Given the description of an element on the screen output the (x, y) to click on. 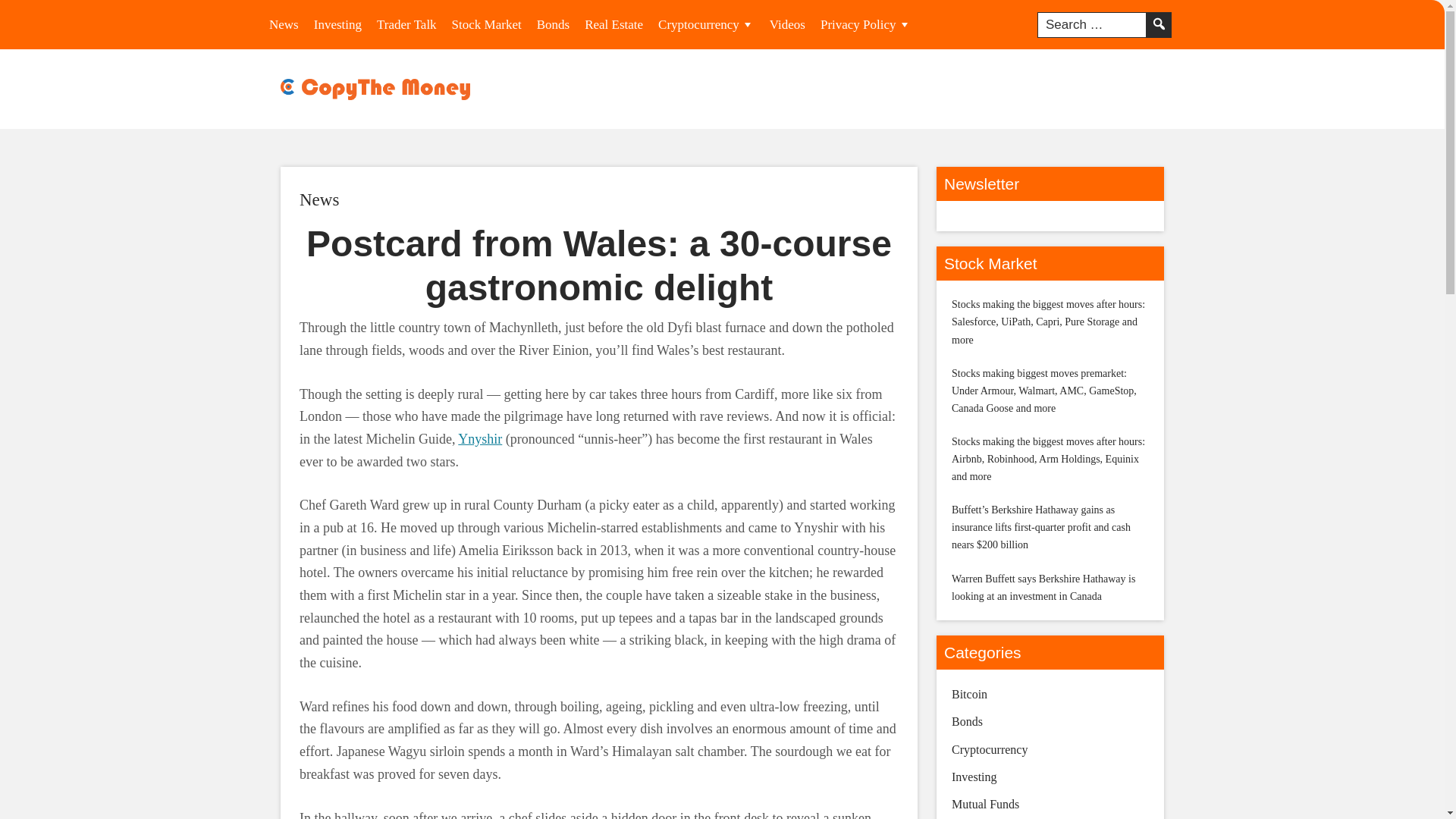
Stock Market (486, 24)
Privacy Policy (865, 24)
Trader Talk (406, 24)
Bonds (552, 24)
News (283, 24)
Investing (337, 24)
News (319, 199)
Videos (786, 24)
News (319, 199)
Real Estate (613, 24)
Cryptocurrency (705, 24)
Ynyshir (480, 438)
